Given the description of an element on the screen output the (x, y) to click on. 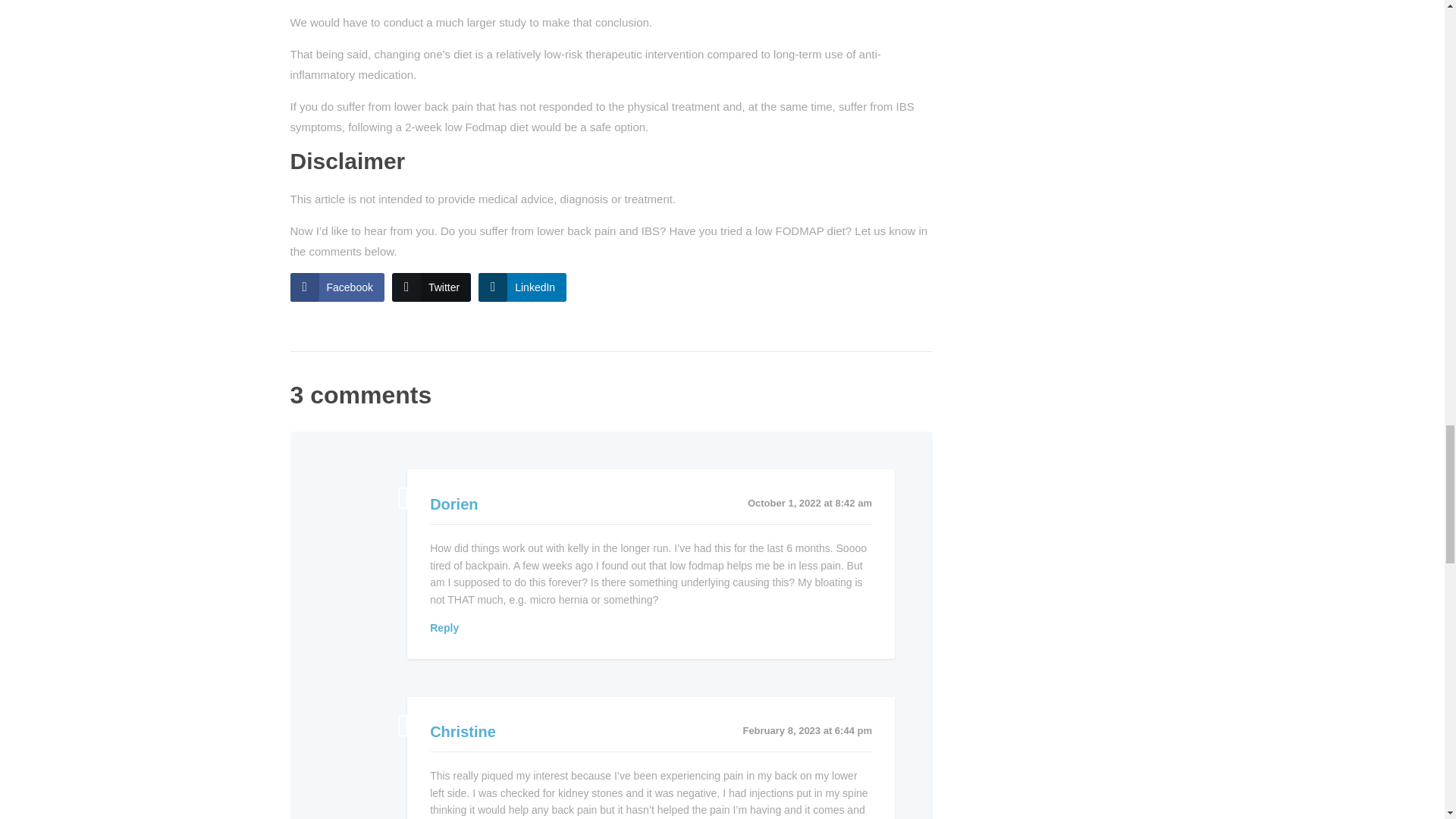
Twitter (430, 287)
Facebook (336, 287)
LinkedIn (522, 287)
Reply (443, 627)
